Given the description of an element on the screen output the (x, y) to click on. 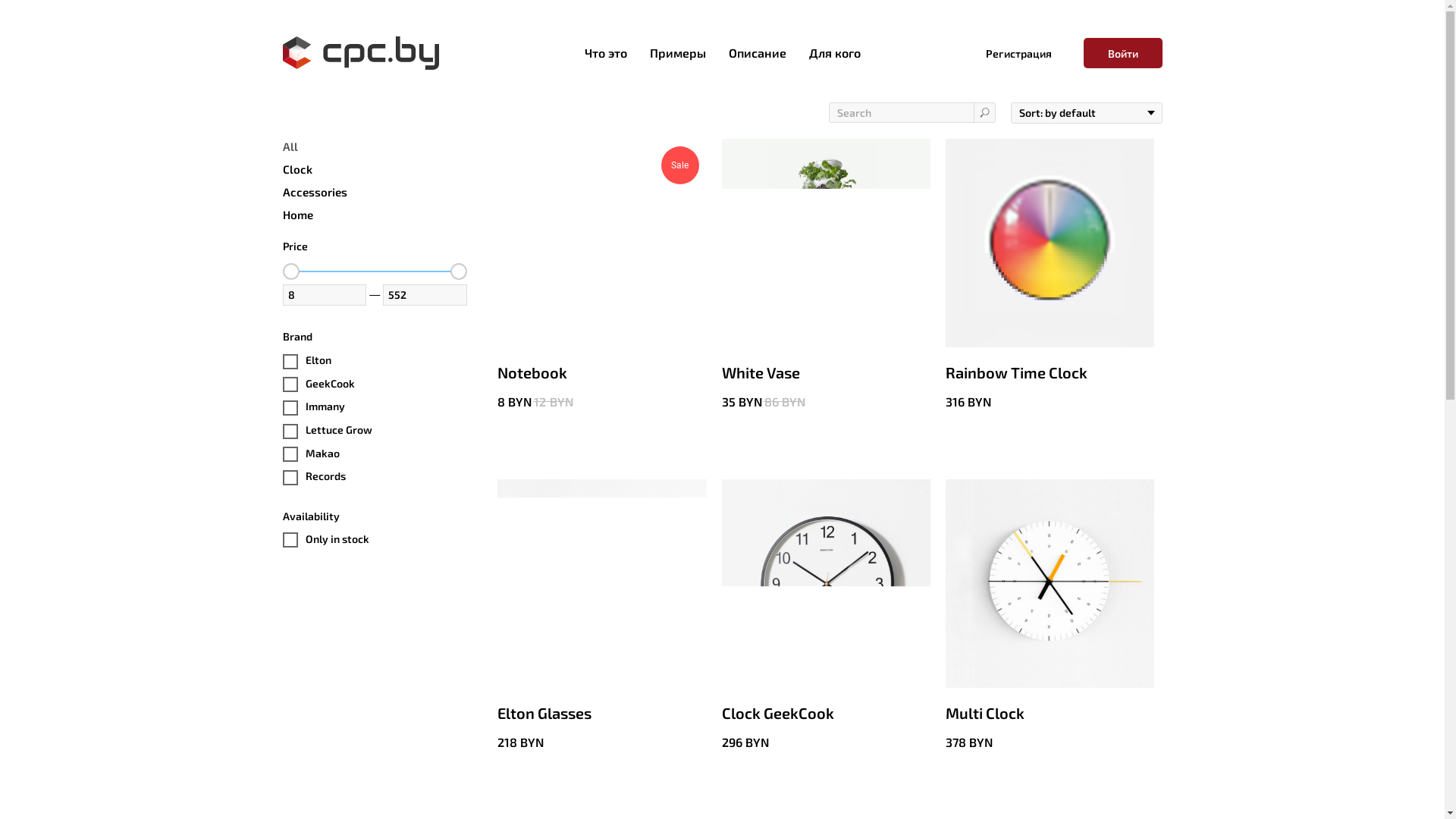
White Vase
35BYN86BYN Element type: text (825, 274)
Rainbow Time Clock
316BYN Element type: text (1049, 274)
Elton Glasses
218BYN Element type: text (601, 615)
Clock GeekCook
296BYN Element type: text (825, 615)
Multi Clock
378BYN Element type: text (1049, 615)
Sale
Notebook
8BYN12BYN Element type: text (601, 274)
